Given the description of an element on the screen output the (x, y) to click on. 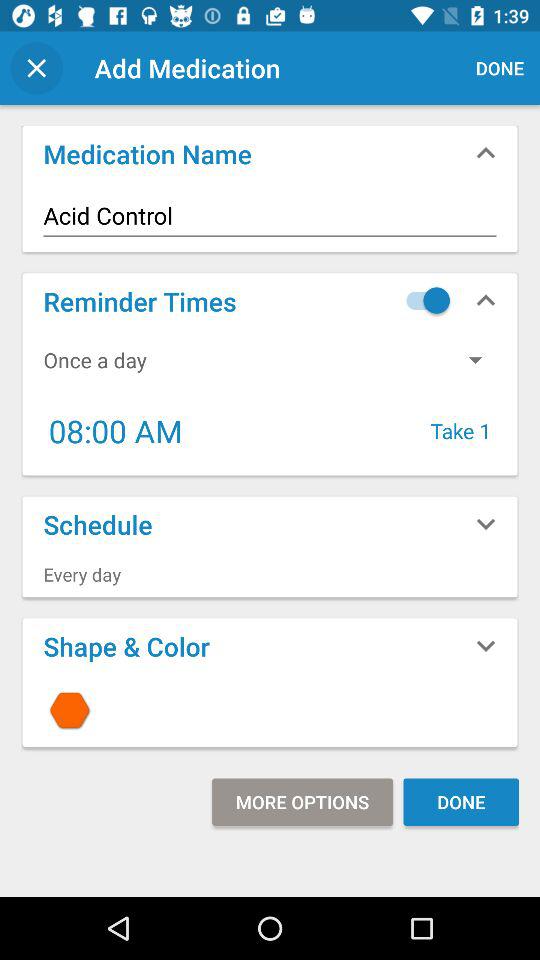
toggle option (423, 300)
